Given the description of an element on the screen output the (x, y) to click on. 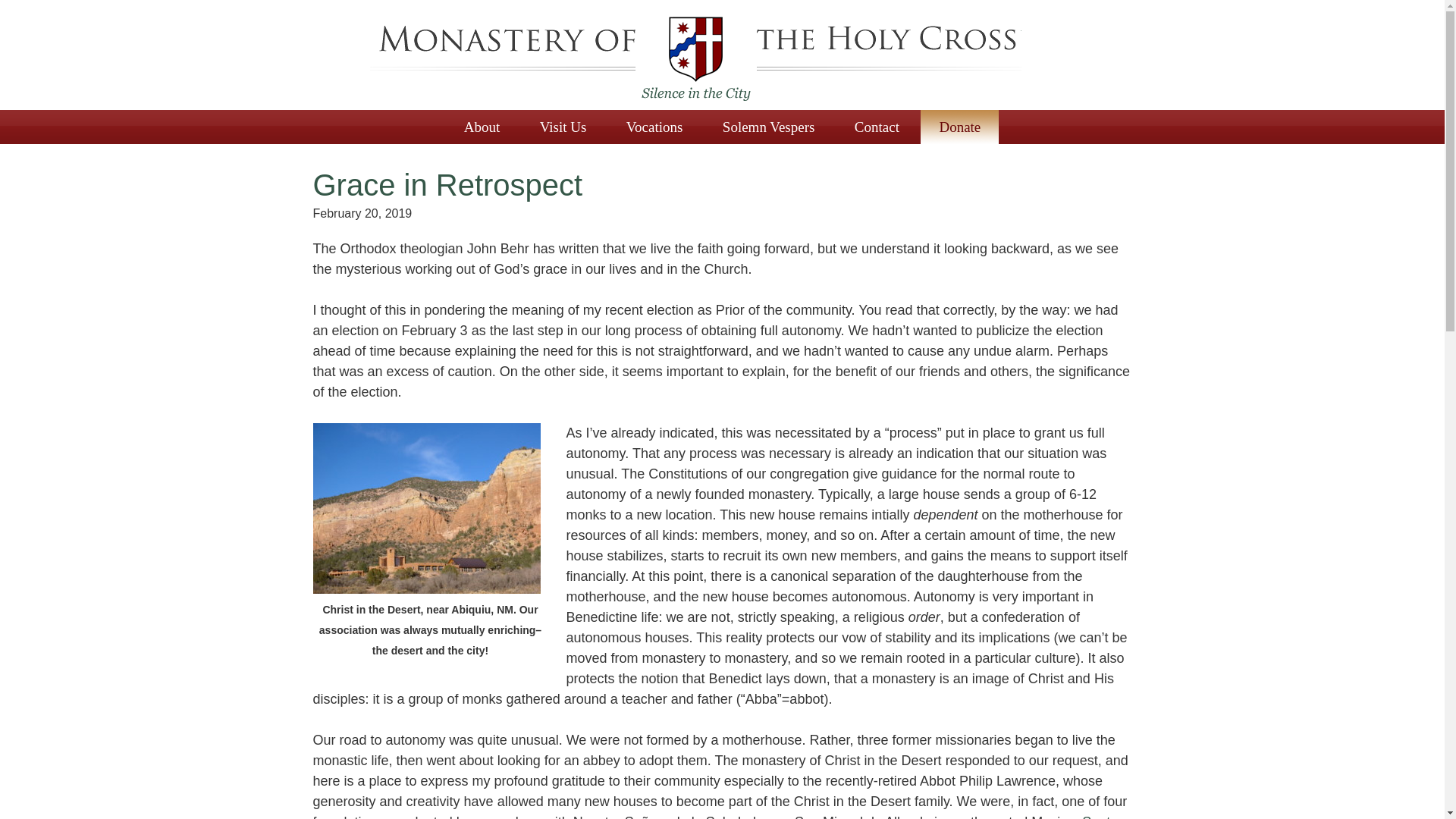
Contact (876, 126)
Visit Us (563, 126)
About (481, 126)
Vocations (654, 126)
Solemn Vespers (768, 126)
Donate (959, 126)
Monastery of the Holy Cross (694, 58)
